Given the description of an element on the screen output the (x, y) to click on. 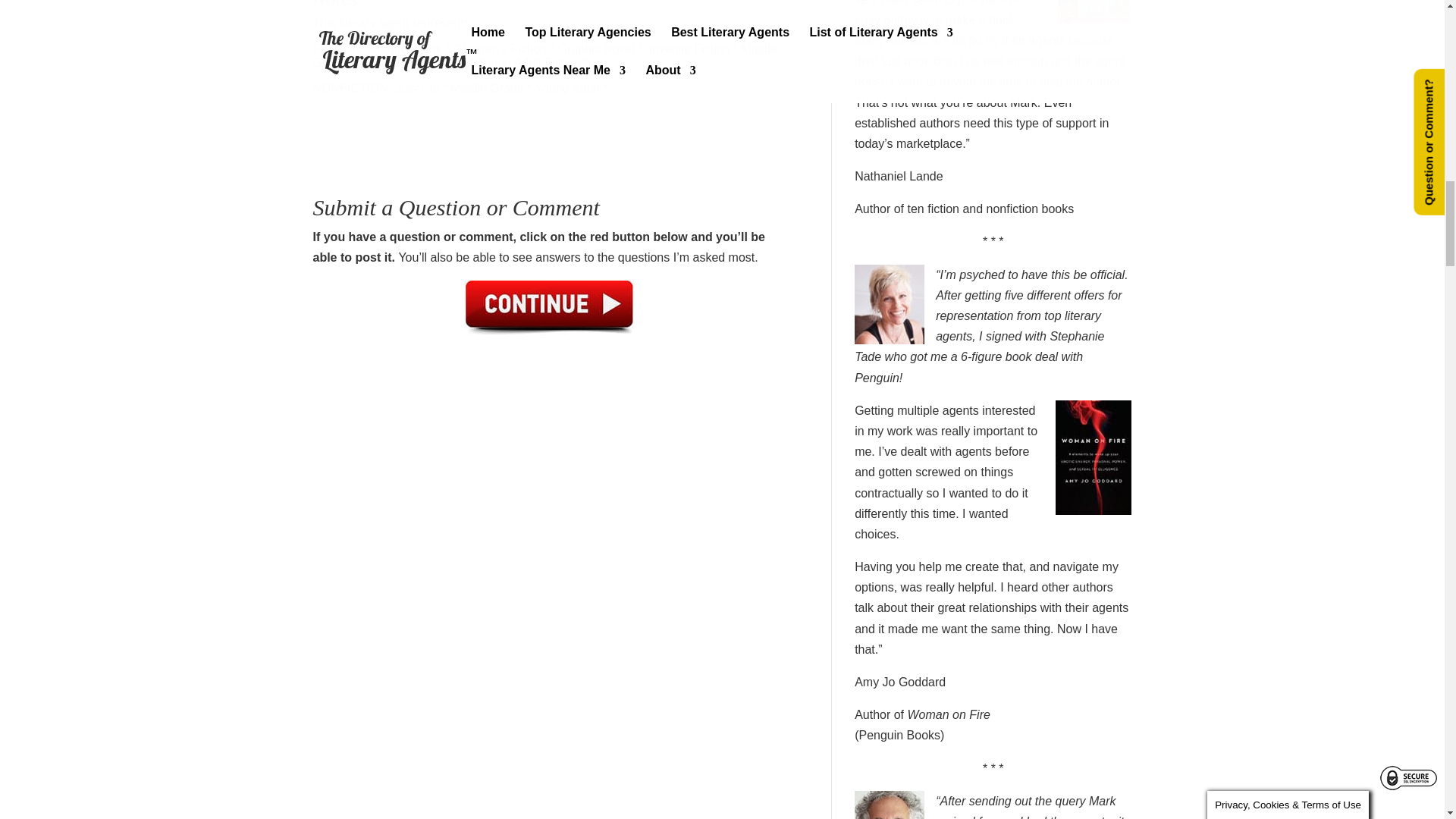
Amy Jo Goddard (899, 681)
Nathaniel Lande (898, 175)
